Given the description of an element on the screen output the (x, y) to click on. 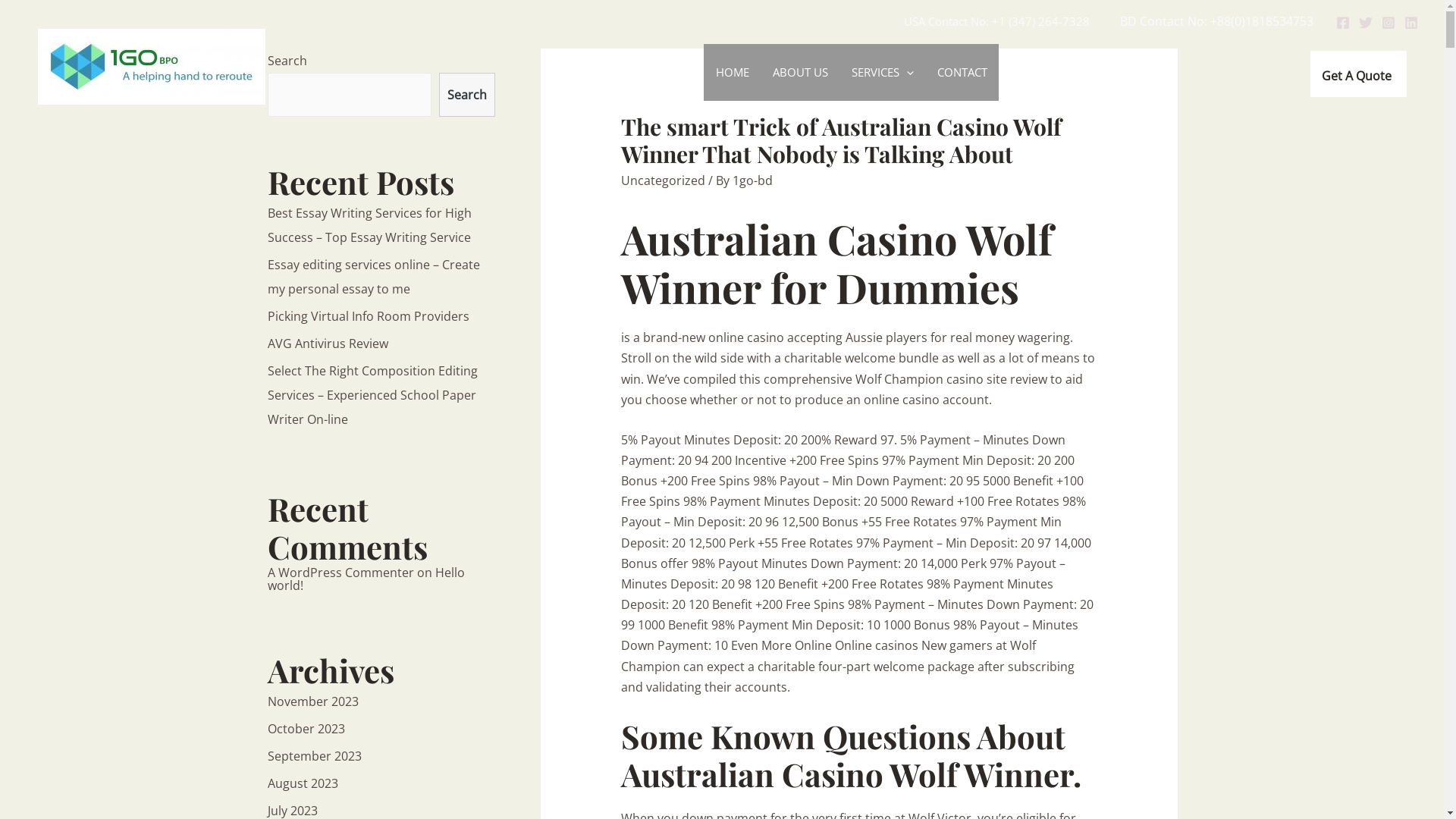
AVG Antivirus Review Element type: text (326, 343)
HOME Element type: text (731, 71)
November 2023 Element type: text (311, 701)
SERVICES Element type: text (882, 71)
A WordPress Commenter Element type: text (339, 572)
Get A Quote Element type: text (1358, 73)
Search Element type: text (466, 94)
August 2023 Element type: text (301, 783)
CONTACT Element type: text (961, 71)
September 2023 Element type: text (313, 755)
Hello world! Element type: text (365, 579)
October 2023 Element type: text (305, 728)
BD Contact No: +88(0)1818534753 Element type: text (1216, 20)
ABOUT US Element type: text (799, 71)
1go-bd Element type: text (752, 180)
Picking Virtual Info Room Providers Element type: text (367, 315)
Uncategorized Element type: text (663, 180)
